Given the description of an element on the screen output the (x, y) to click on. 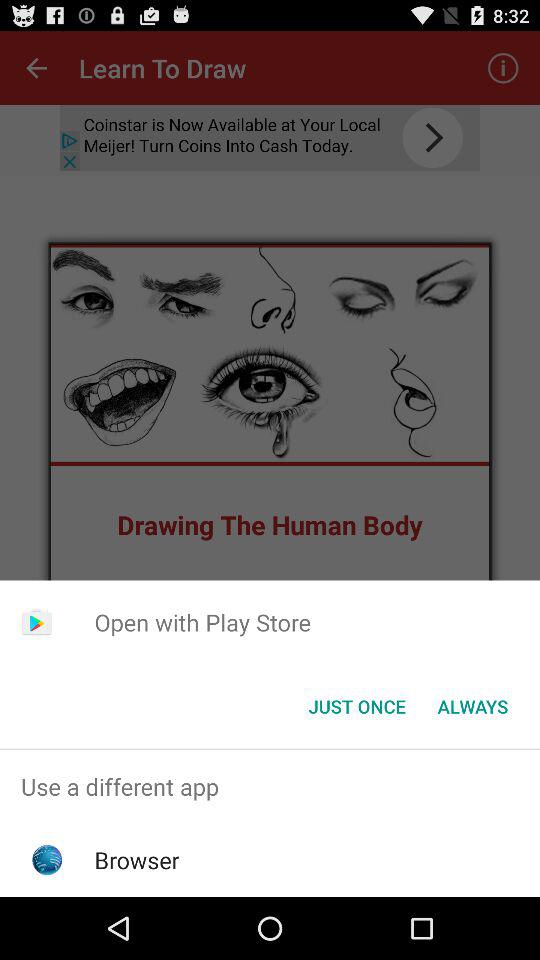
choose the just once button (356, 706)
